Given the description of an element on the screen output the (x, y) to click on. 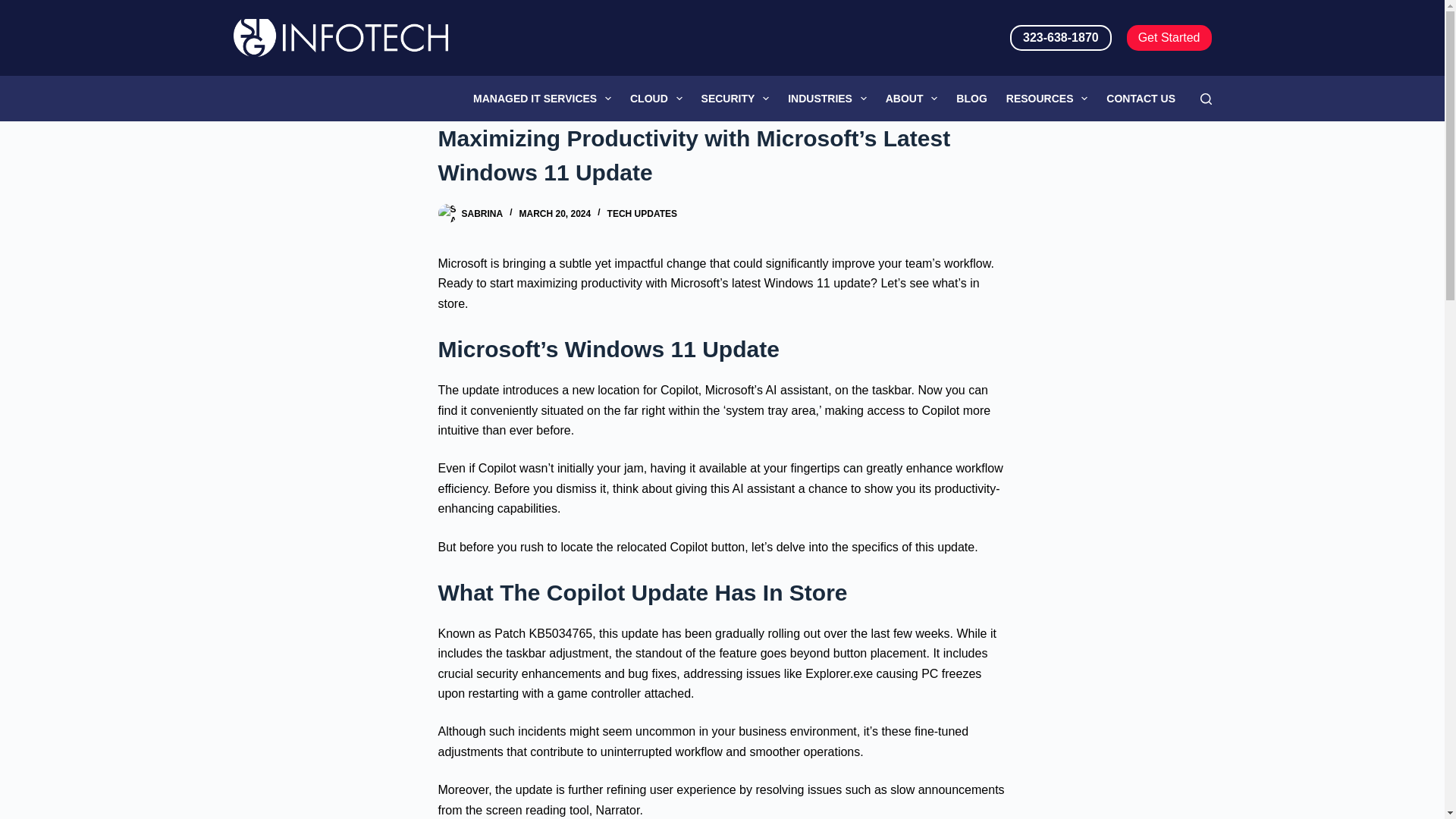
Posts by Sabrina (481, 213)
Skip to content (15, 7)
